Given the description of an element on the screen output the (x, y) to click on. 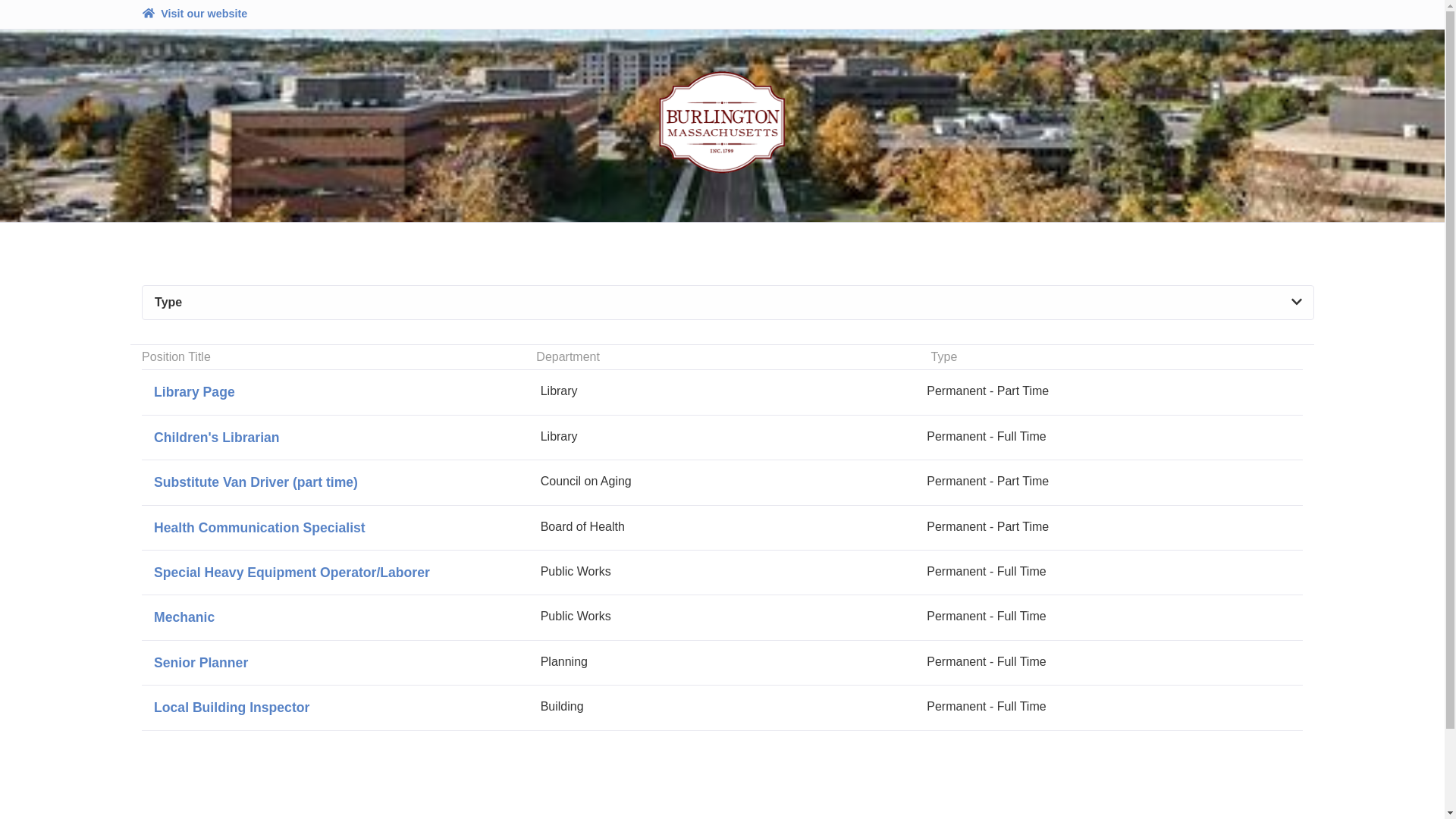
Type (727, 303)
Visit our website (194, 13)
